Given the description of an element on the screen output the (x, y) to click on. 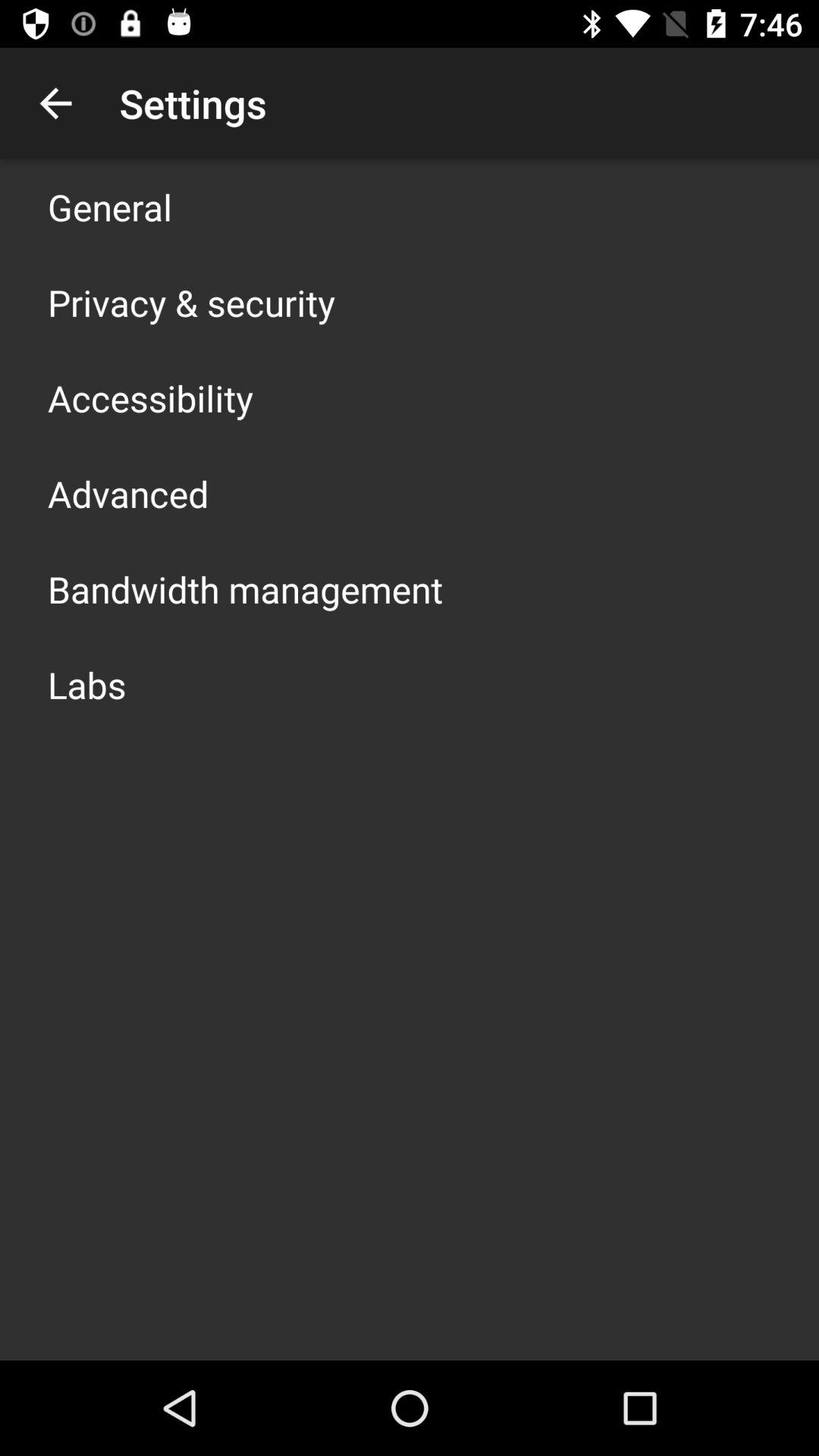
jump to the advanced item (127, 493)
